Given the description of an element on the screen output the (x, y) to click on. 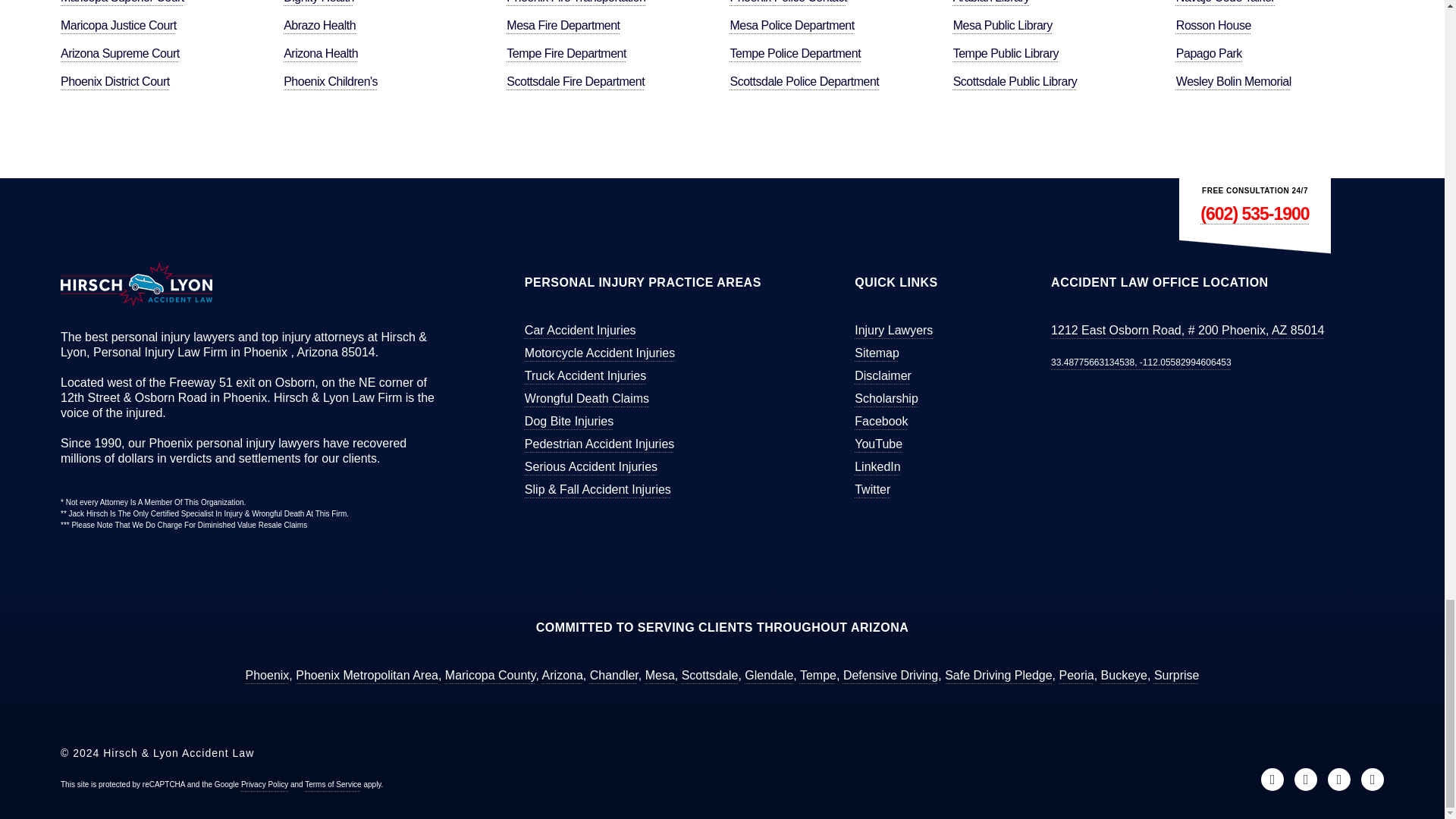
Mesa Fire Department (563, 24)
Arizona Supreme Court (120, 52)
Dignity Health (318, 5)
Arizona Health (320, 52)
Maricopa Justice Court (118, 24)
Scottsdale Fire Department (575, 80)
Phoenix Fire Transportation (575, 5)
Tempe Fire Department (566, 52)
Phoenix Children's (330, 80)
Abrazo Health (319, 24)
